Given the description of an element on the screen output the (x, y) to click on. 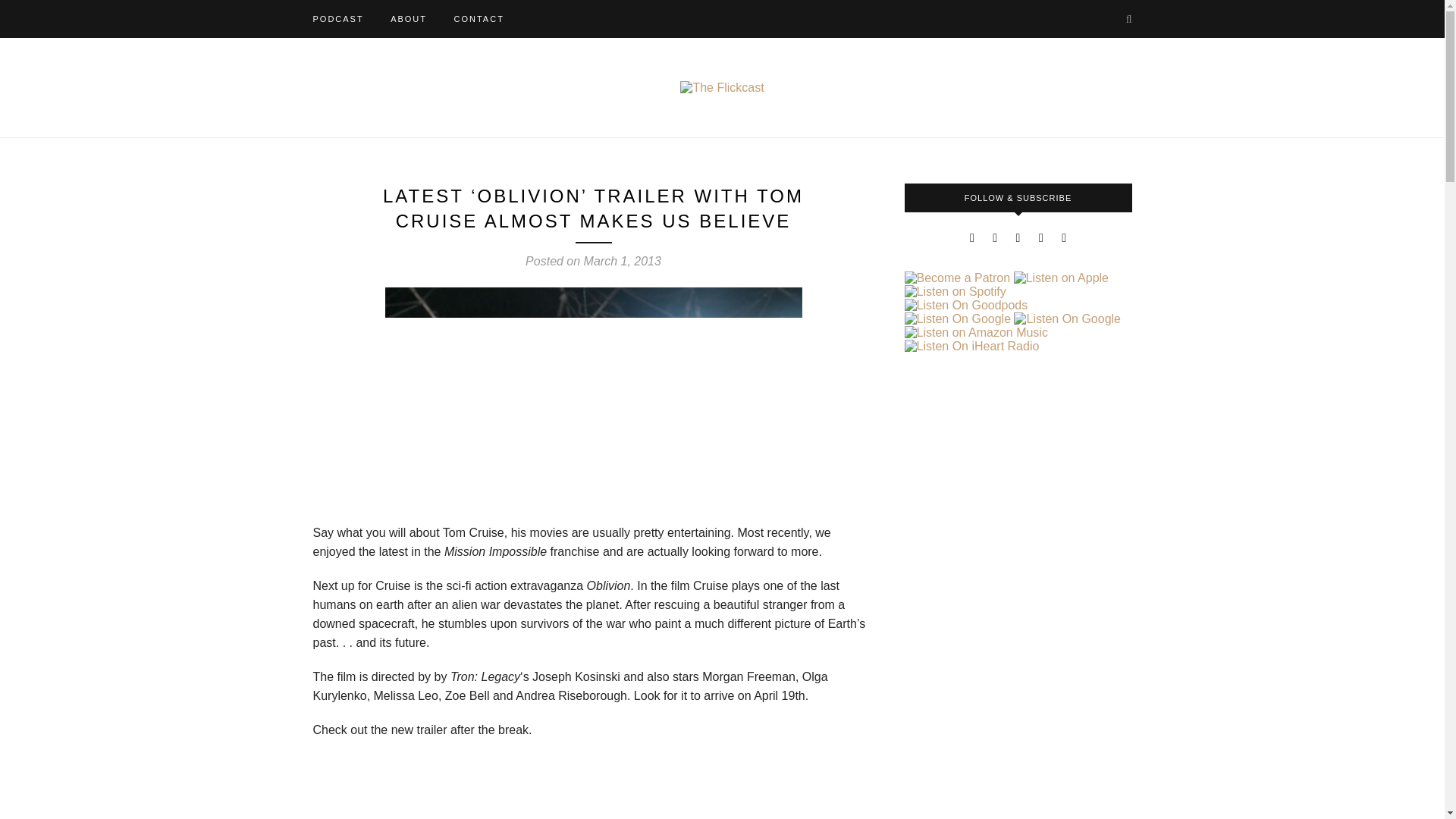
PODCAST (337, 18)
CONTACT (477, 18)
ABOUT (408, 18)
